Given the description of an element on the screen output the (x, y) to click on. 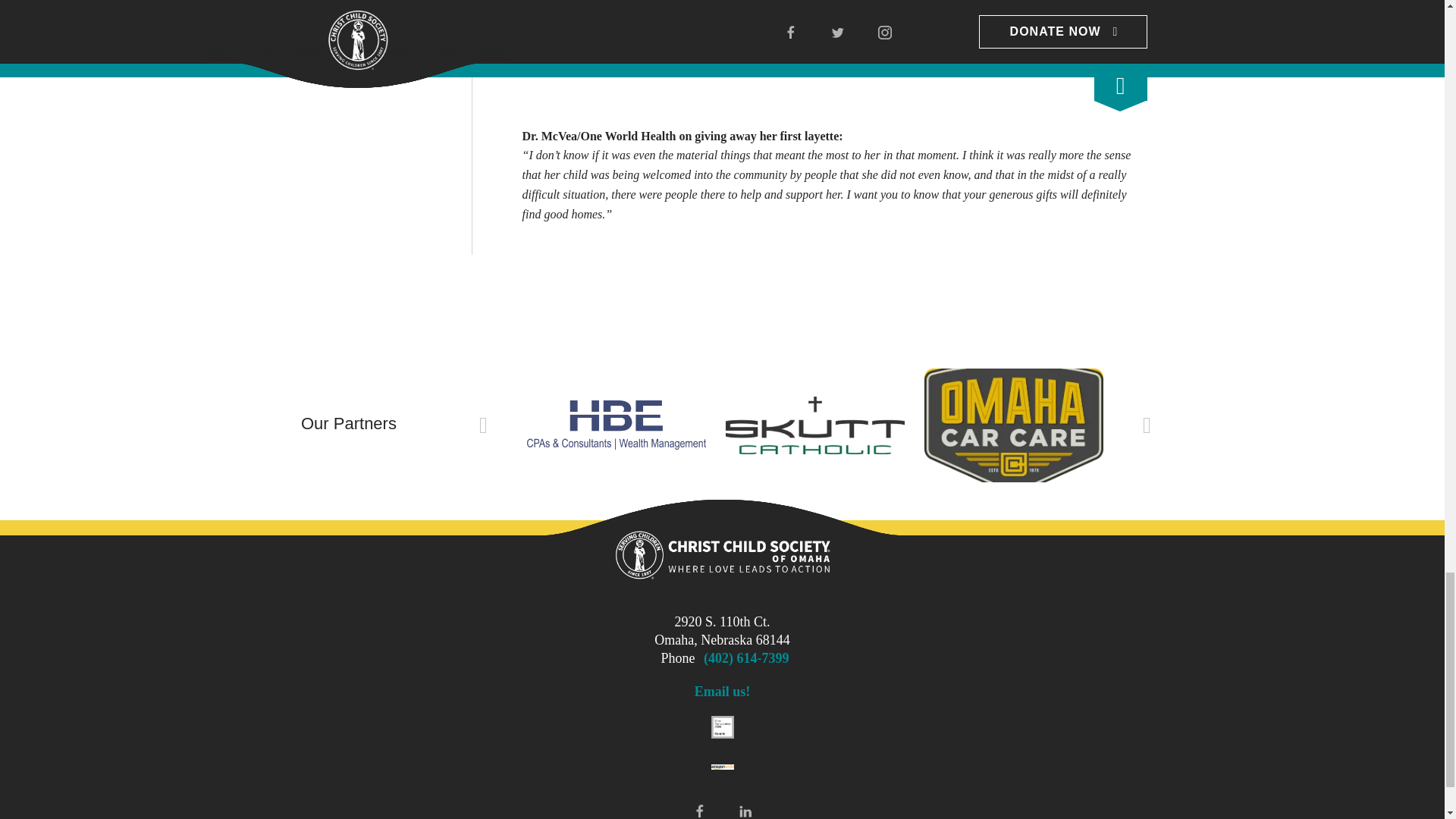
logo (722, 557)
